Given the description of an element on the screen output the (x, y) to click on. 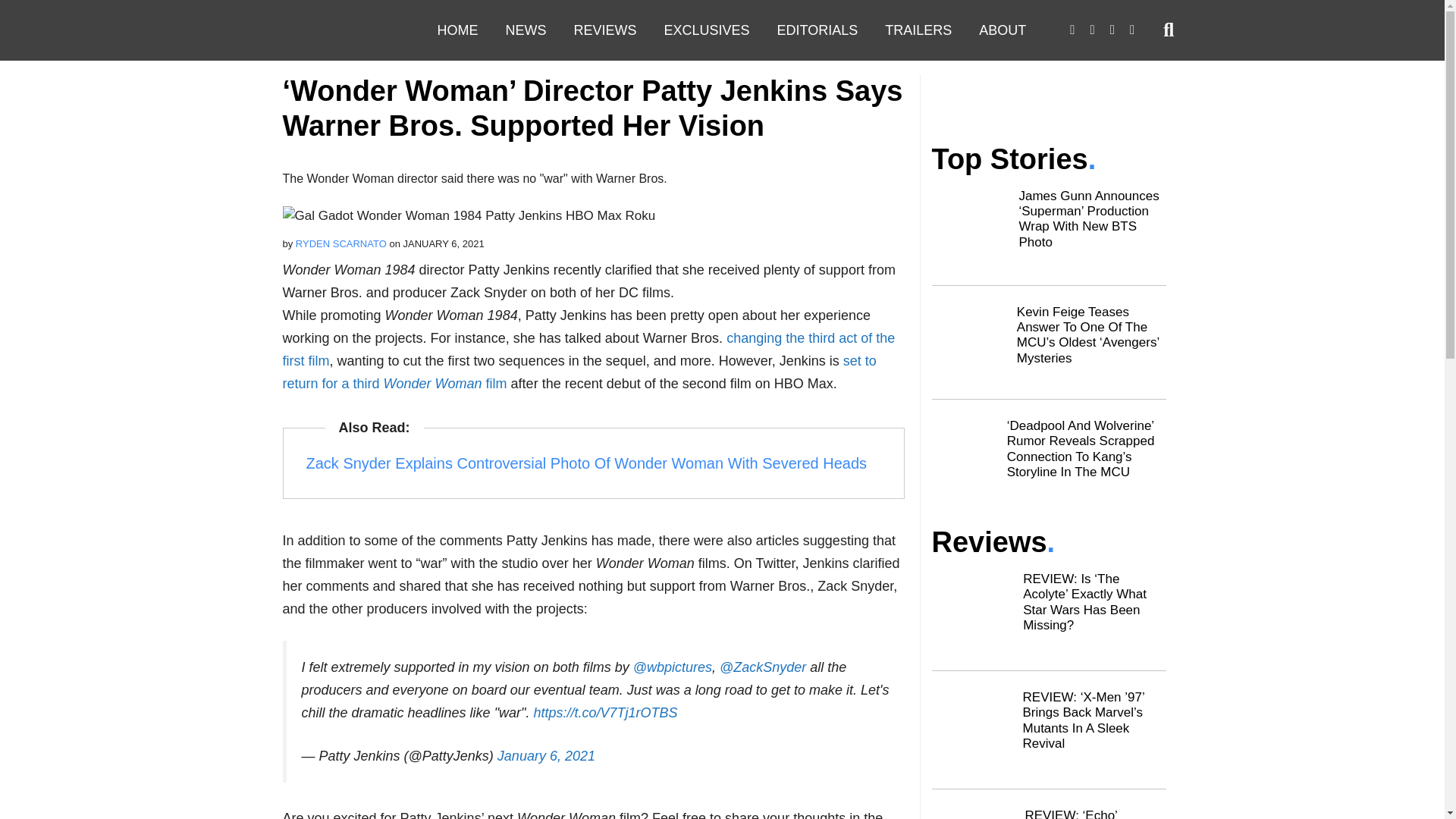
HOME (457, 30)
NEWS (525, 30)
REVIEWS (604, 30)
EDITORIALS (817, 30)
ABOUT (1002, 30)
EXCLUSIVES (706, 30)
2021-01-06 (443, 243)
TRAILERS (917, 30)
